Given the description of an element on the screen output the (x, y) to click on. 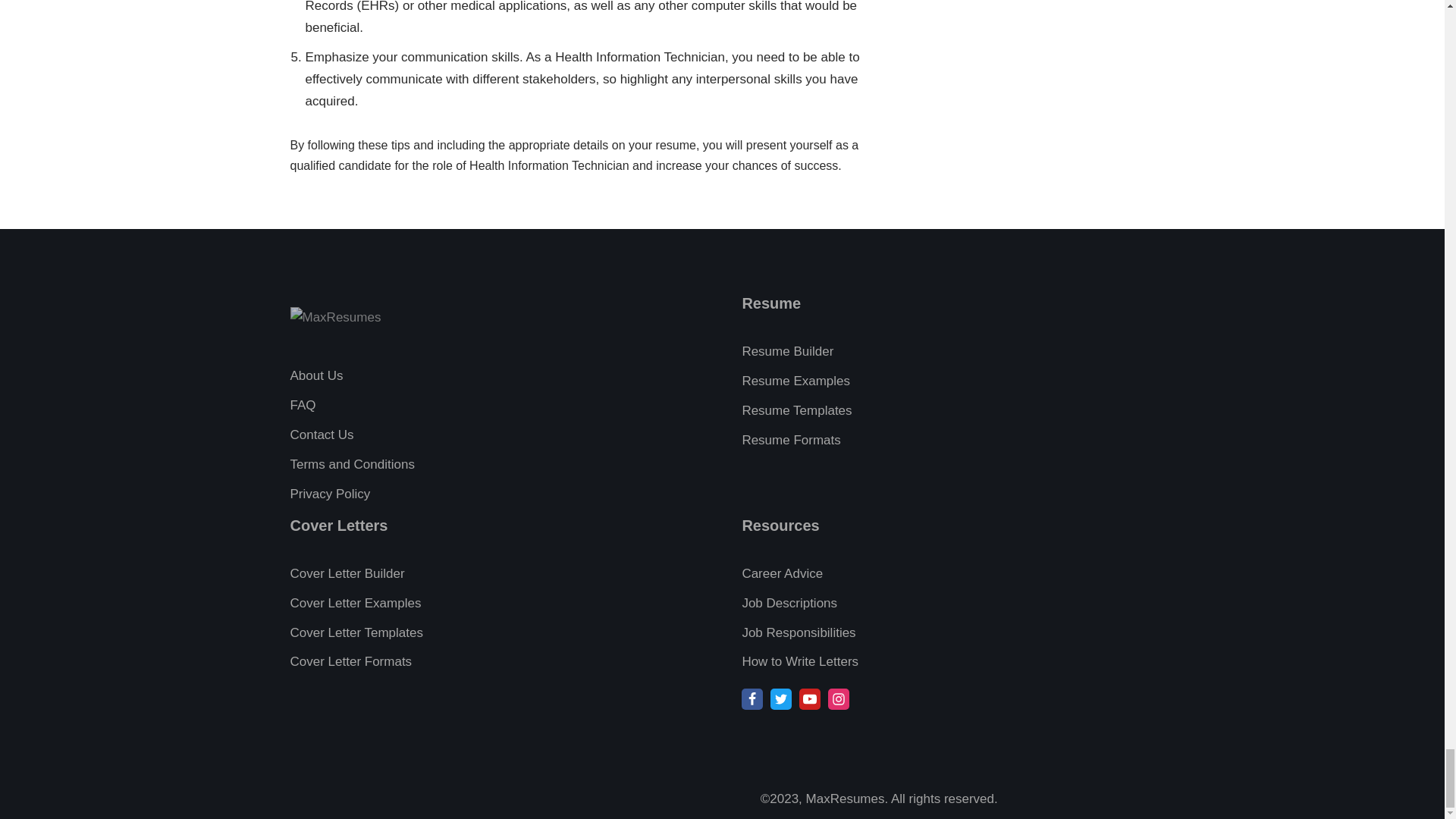
Youtube (810, 699)
Twitter (781, 699)
Instagram (838, 699)
Facebook (751, 699)
